Given the description of an element on the screen output the (x, y) to click on. 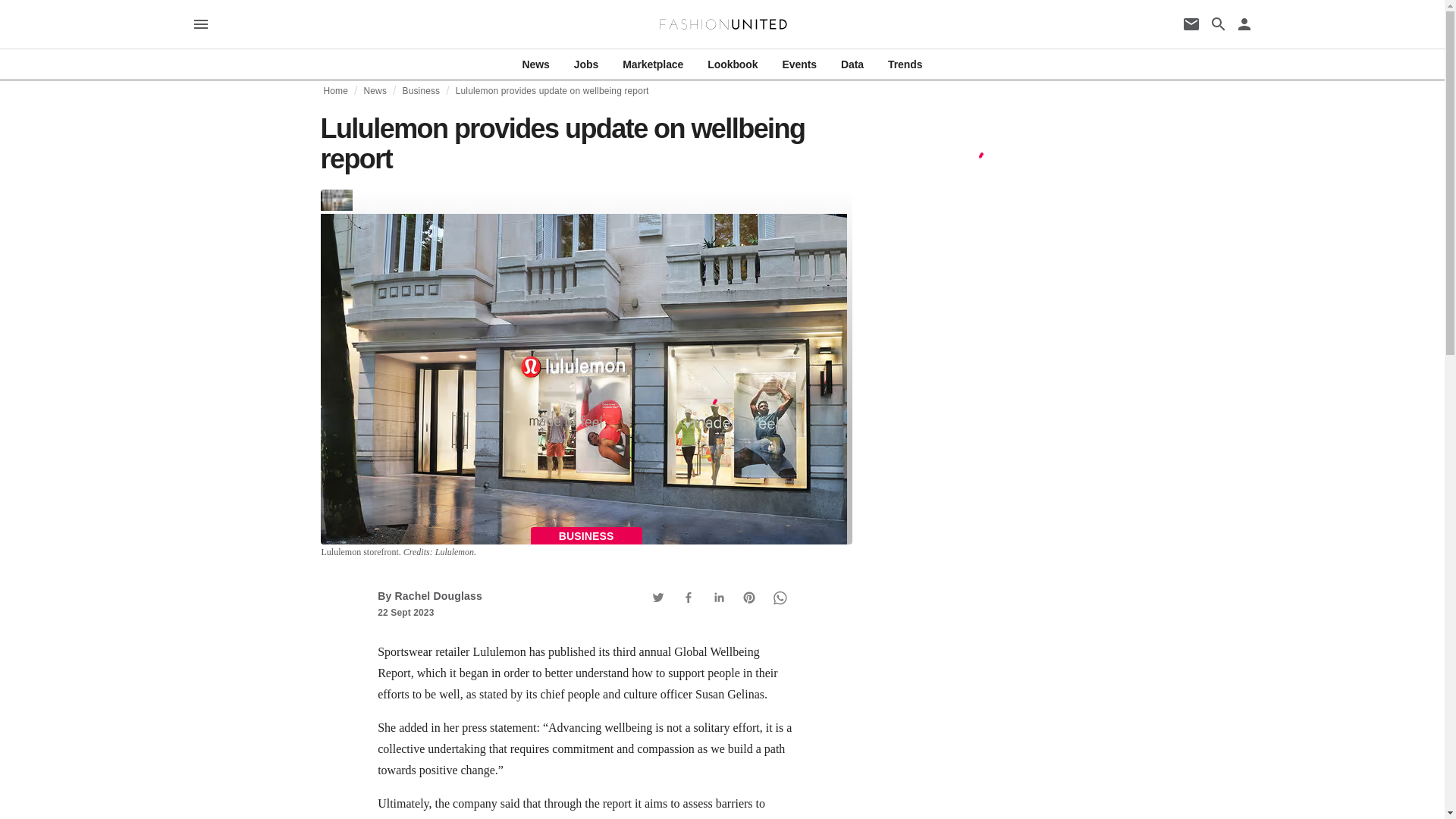
News (536, 64)
Data (852, 64)
Home (335, 90)
By Rachel Douglass (429, 595)
Business (420, 90)
News (375, 90)
Trends (905, 64)
Events (799, 64)
Lululemon provides update on wellbeing report (552, 90)
Jobs (586, 64)
Marketplace (652, 64)
Lookbook (732, 64)
